Given the description of an element on the screen output the (x, y) to click on. 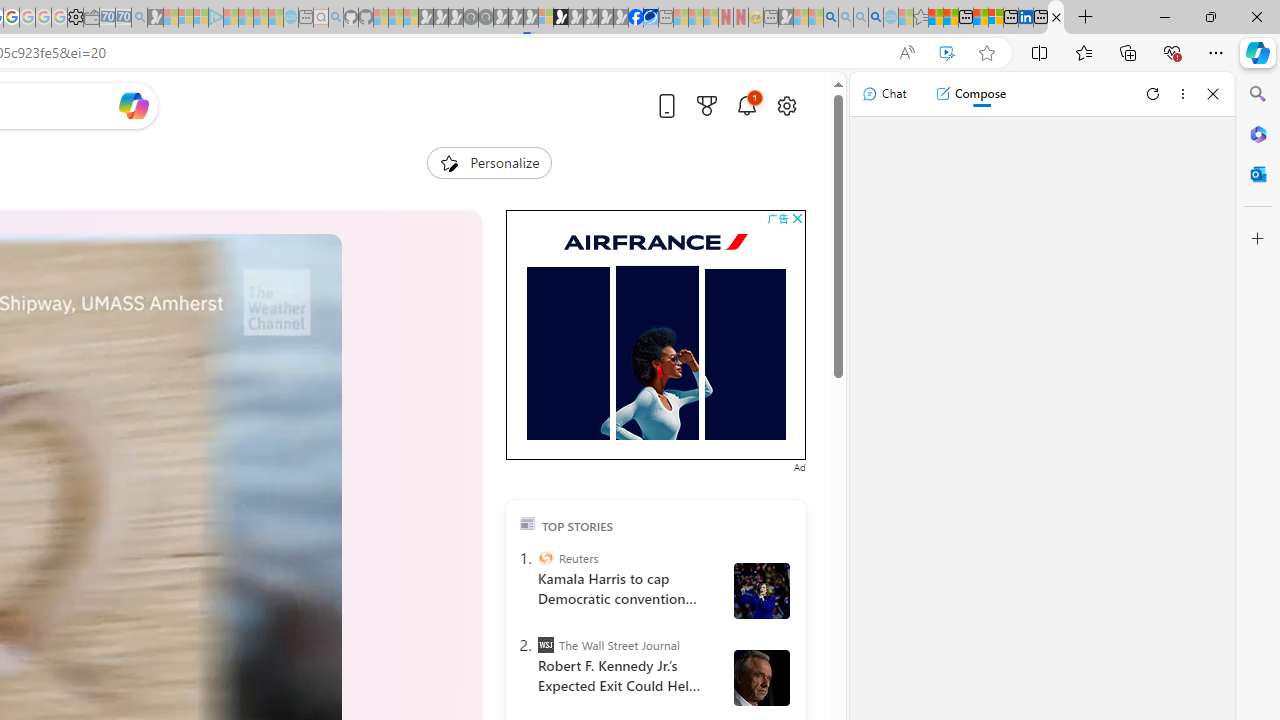
Sign in to your account - Sleeping (545, 17)
Compose (970, 93)
AutomationID: cbb (797, 218)
LinkedIn (1025, 17)
 Harris and Walz campaign in Wisconsin (761, 591)
Favorites - Sleeping (920, 17)
